Given the description of an element on the screen output the (x, y) to click on. 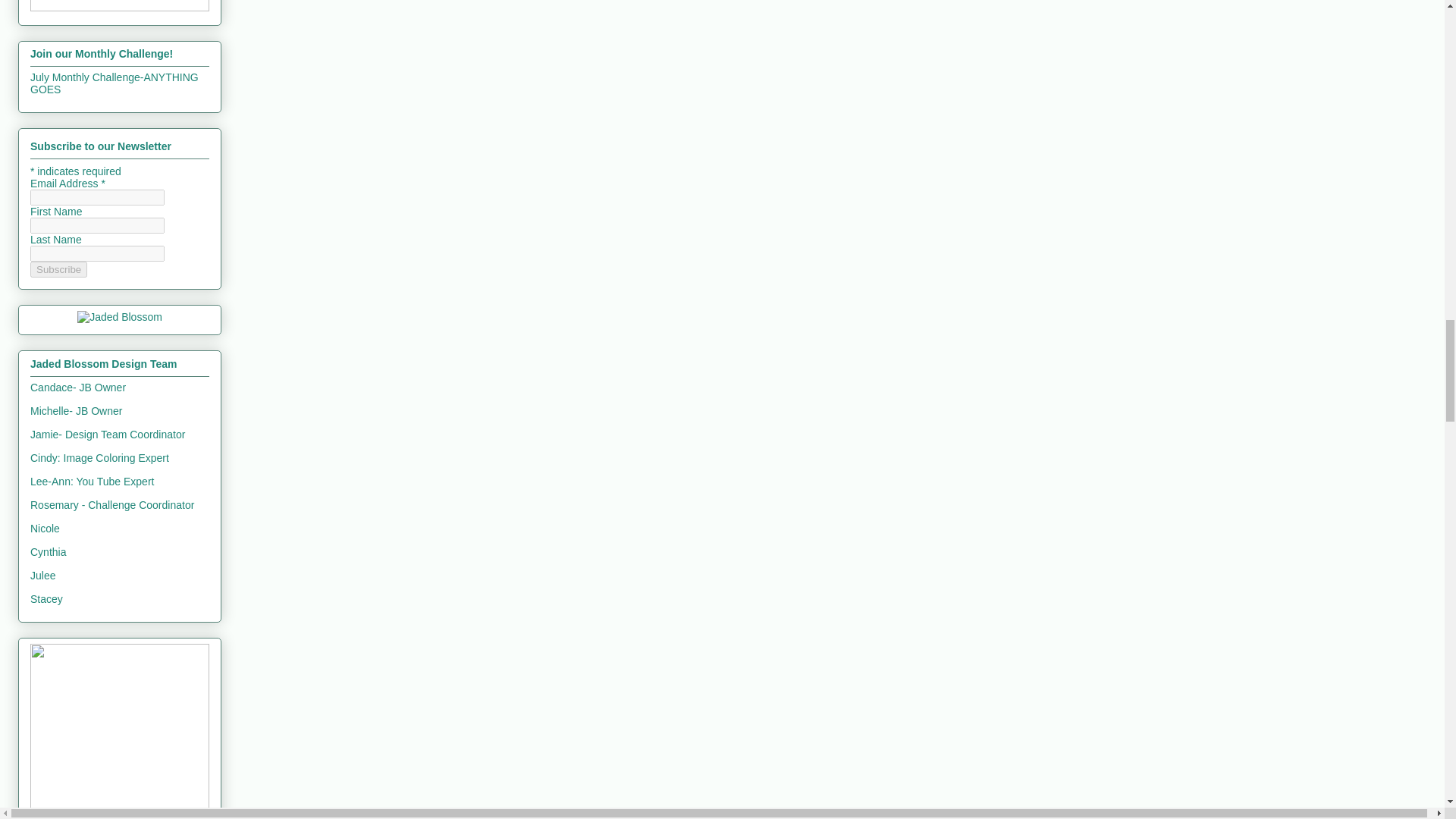
Subscribe (58, 269)
